Given the description of an element on the screen output the (x, y) to click on. 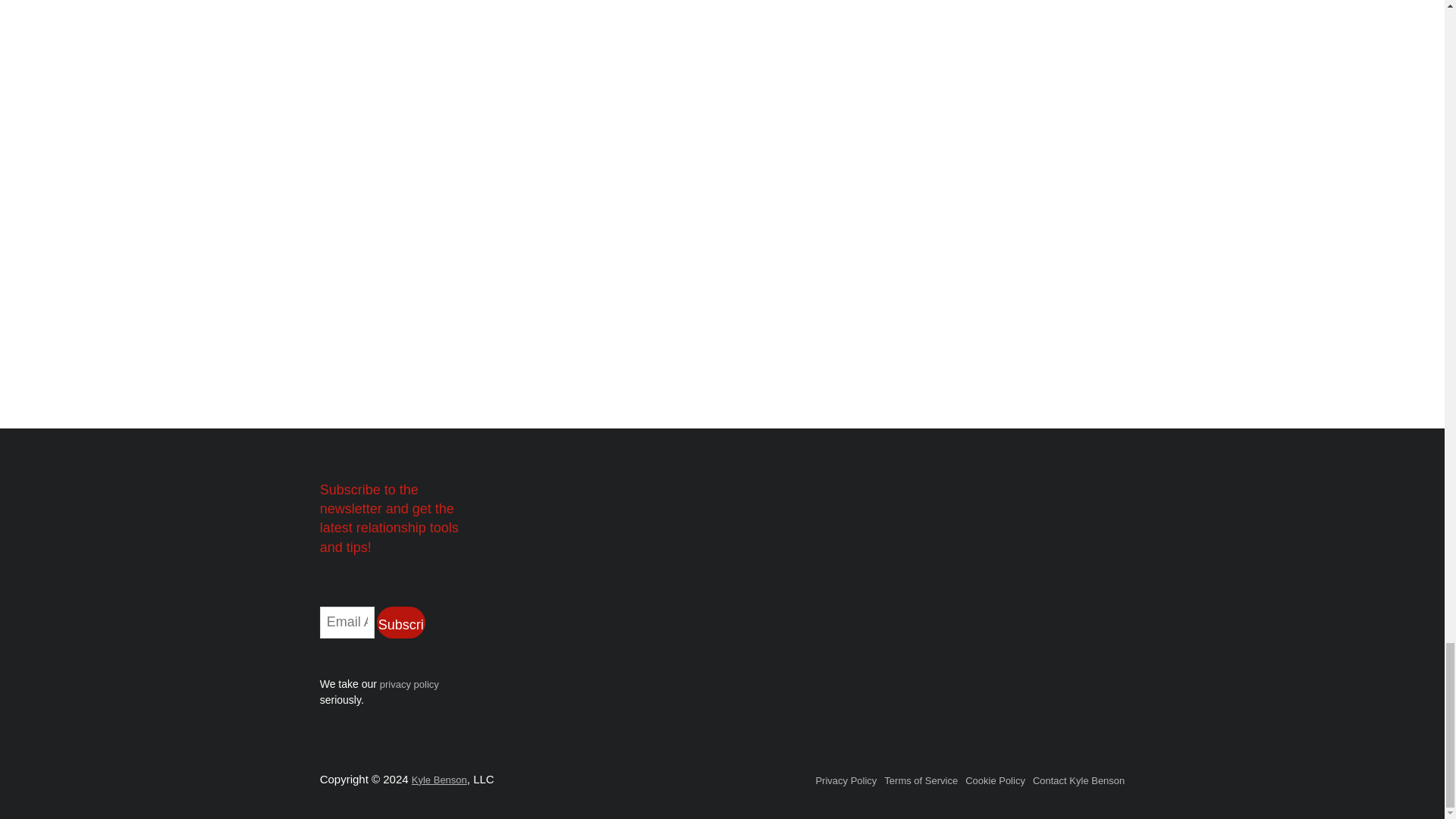
Contact Kyle Benson (1078, 780)
Subscribe (401, 622)
Cookie Policy (995, 780)
Kyle Benson (439, 779)
Terms of Service (920, 780)
privacy policy (409, 684)
Kyle Benson (439, 779)
Privacy Policy (845, 780)
